Given the description of an element on the screen output the (x, y) to click on. 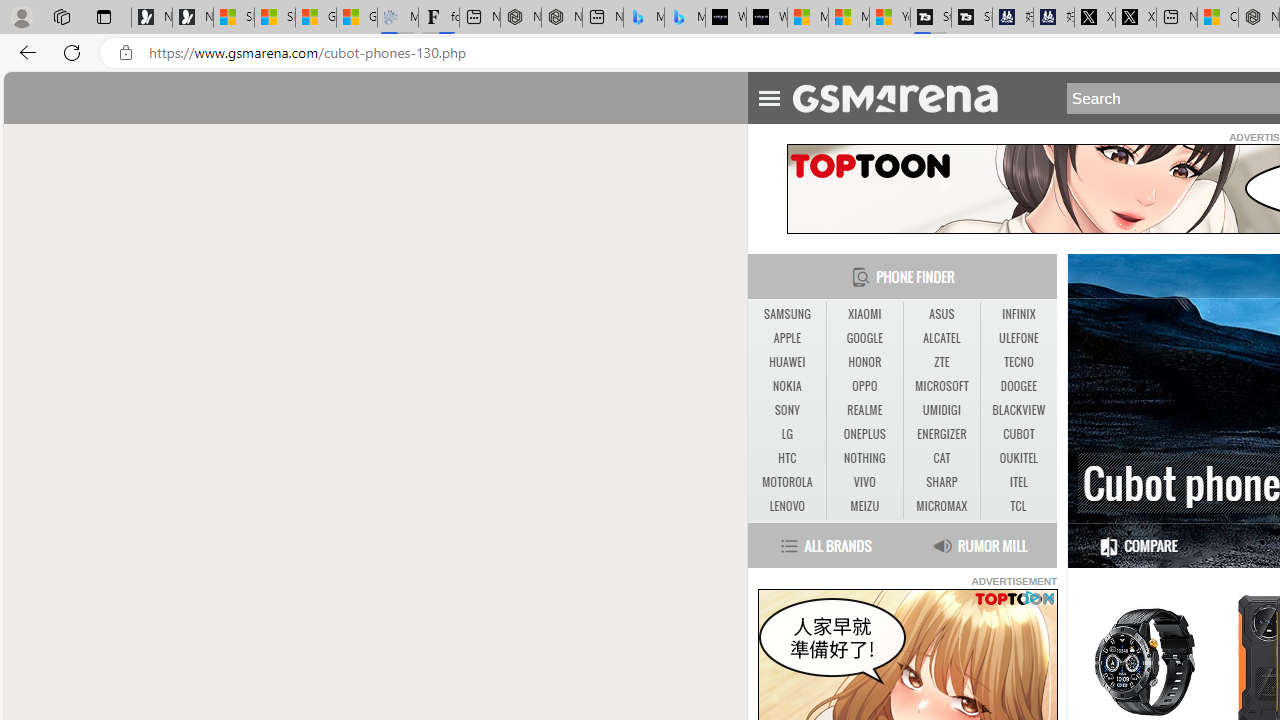
OUKITEL (1018, 457)
ALCATEL (941, 339)
HTC (786, 458)
SHARP (941, 483)
HONOR (864, 362)
ZTE (941, 362)
OUKITEL (1018, 458)
NOTHING (864, 458)
MEIZU (864, 506)
DOOGEE (1018, 386)
ONEPLUS (863, 434)
UMIDIGI (941, 411)
